Given the description of an element on the screen output the (x, y) to click on. 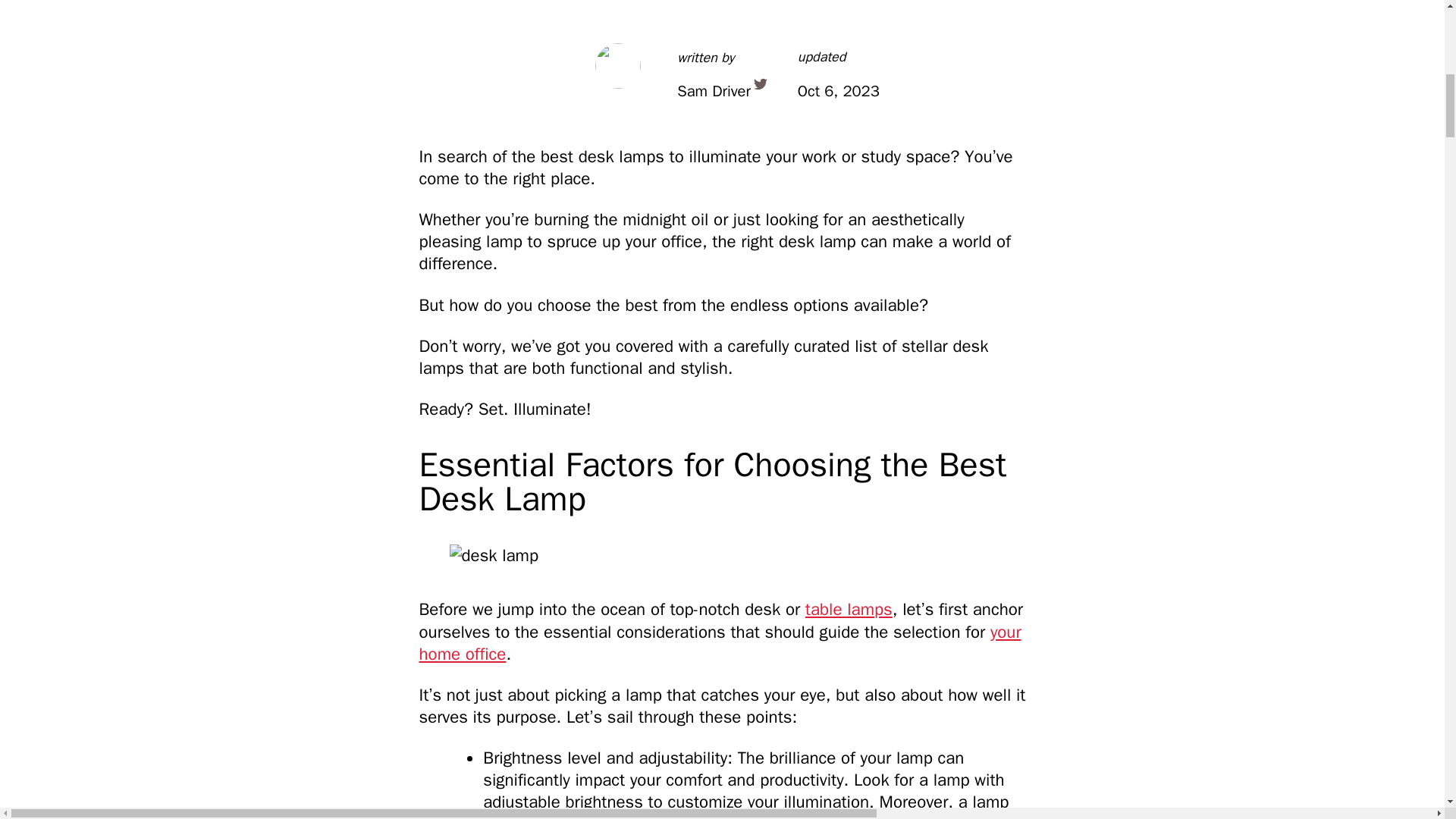
table lamps (848, 608)
Say hi on Twitter (760, 83)
your home office (719, 642)
